Given the description of an element on the screen output the (x, y) to click on. 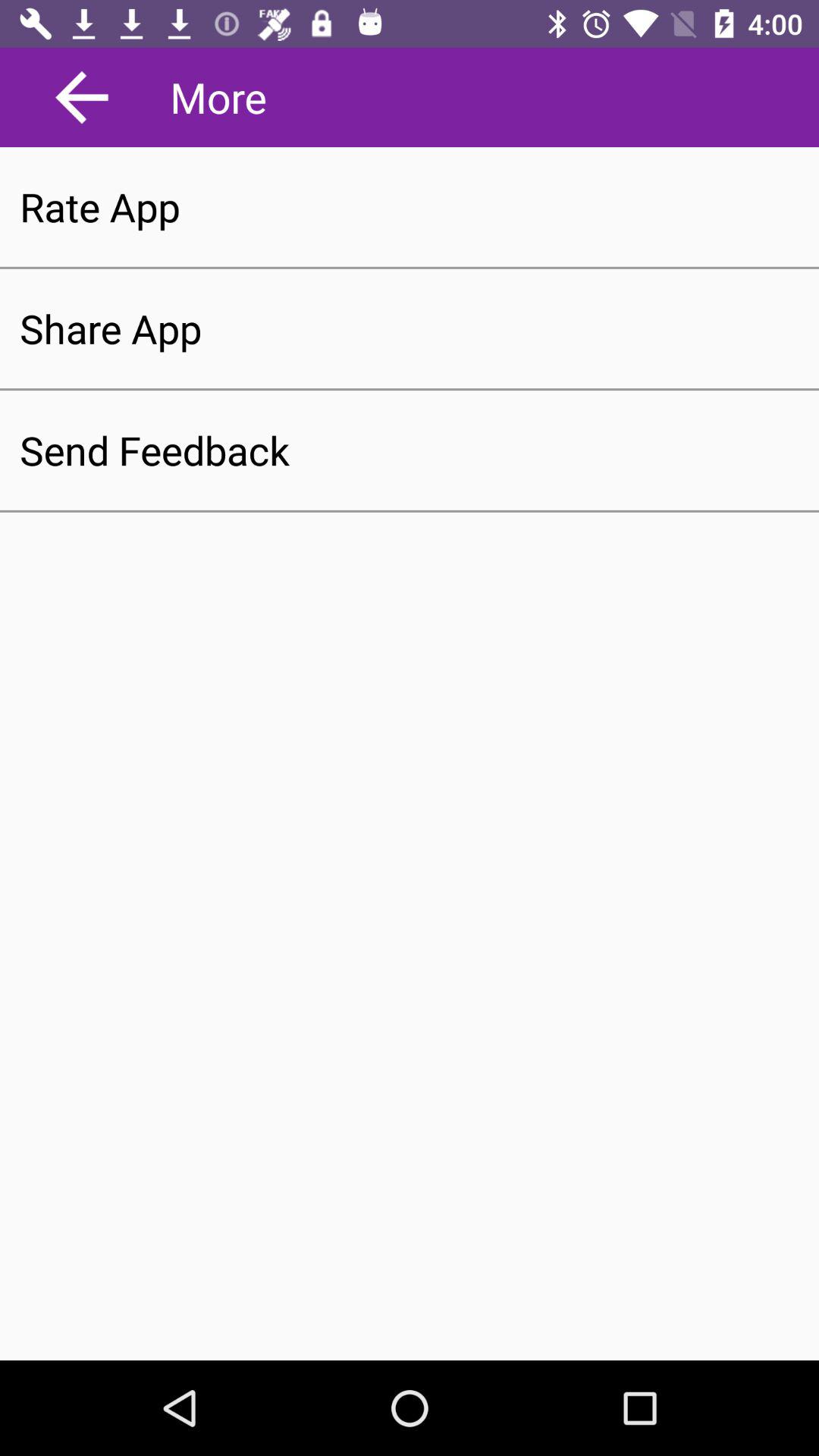
scroll to the share app icon (409, 328)
